Given the description of an element on the screen output the (x, y) to click on. 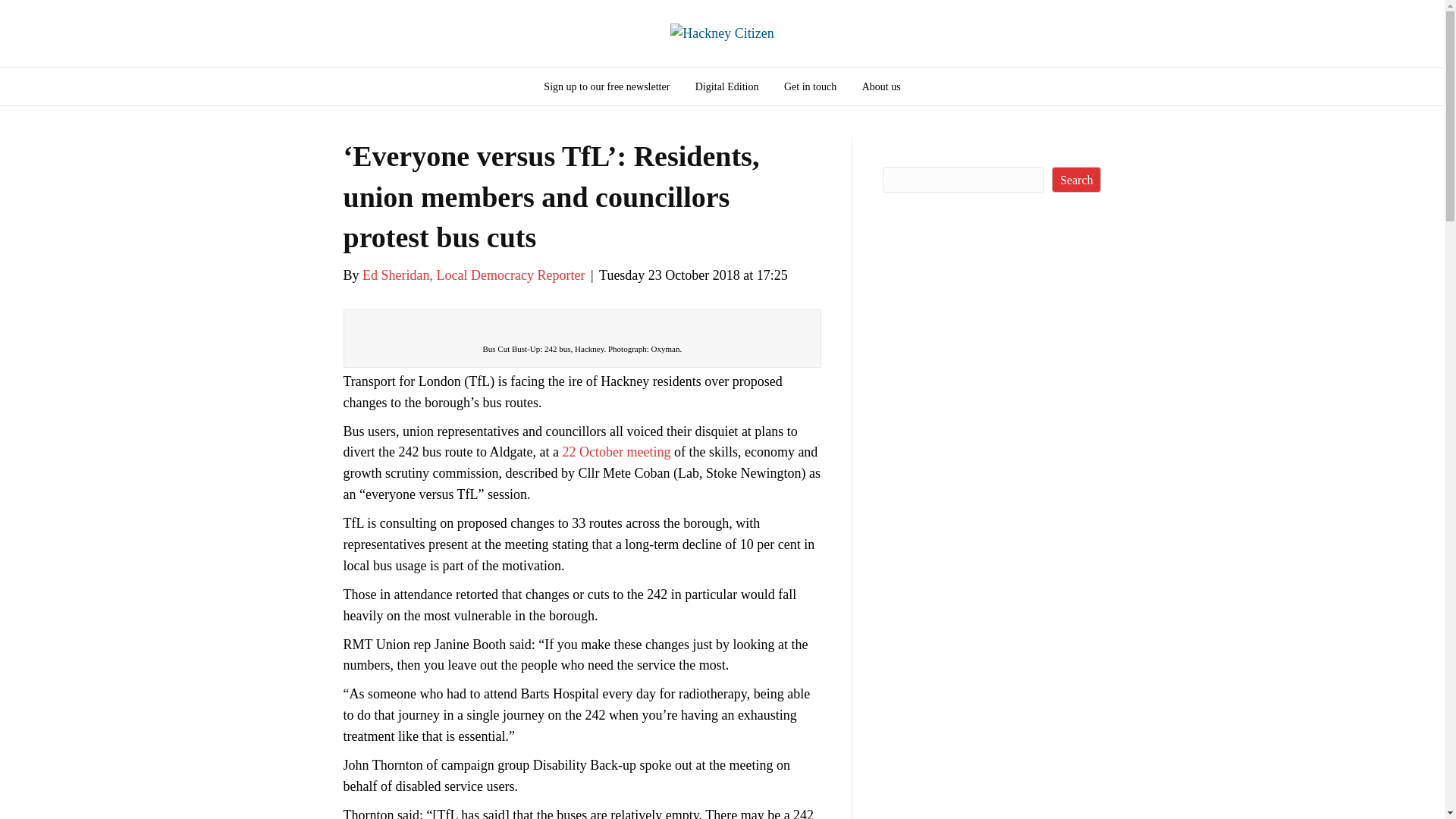
Search (1076, 179)
Get in touch (810, 86)
22 October meeting (615, 451)
Ed Sheridan, Local Democracy Reporter (473, 274)
Sign up to our free newsletter (606, 86)
Digital Edition (727, 86)
About us (881, 86)
